Given the description of an element on the screen output the (x, y) to click on. 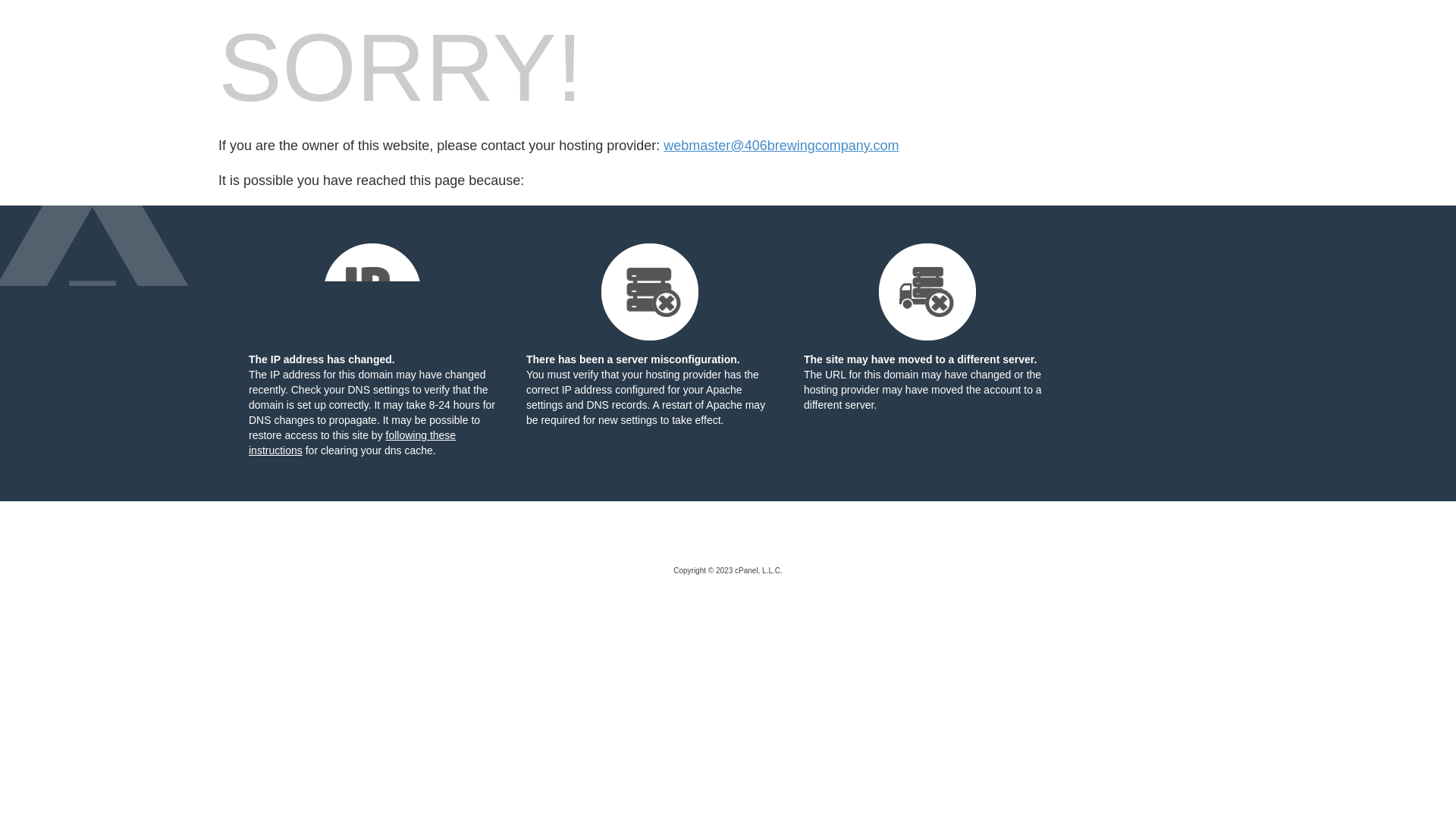
webmaster@406brewingcompany.com Element type: text (780, 145)
following these instructions Element type: text (351, 442)
